Given the description of an element on the screen output the (x, y) to click on. 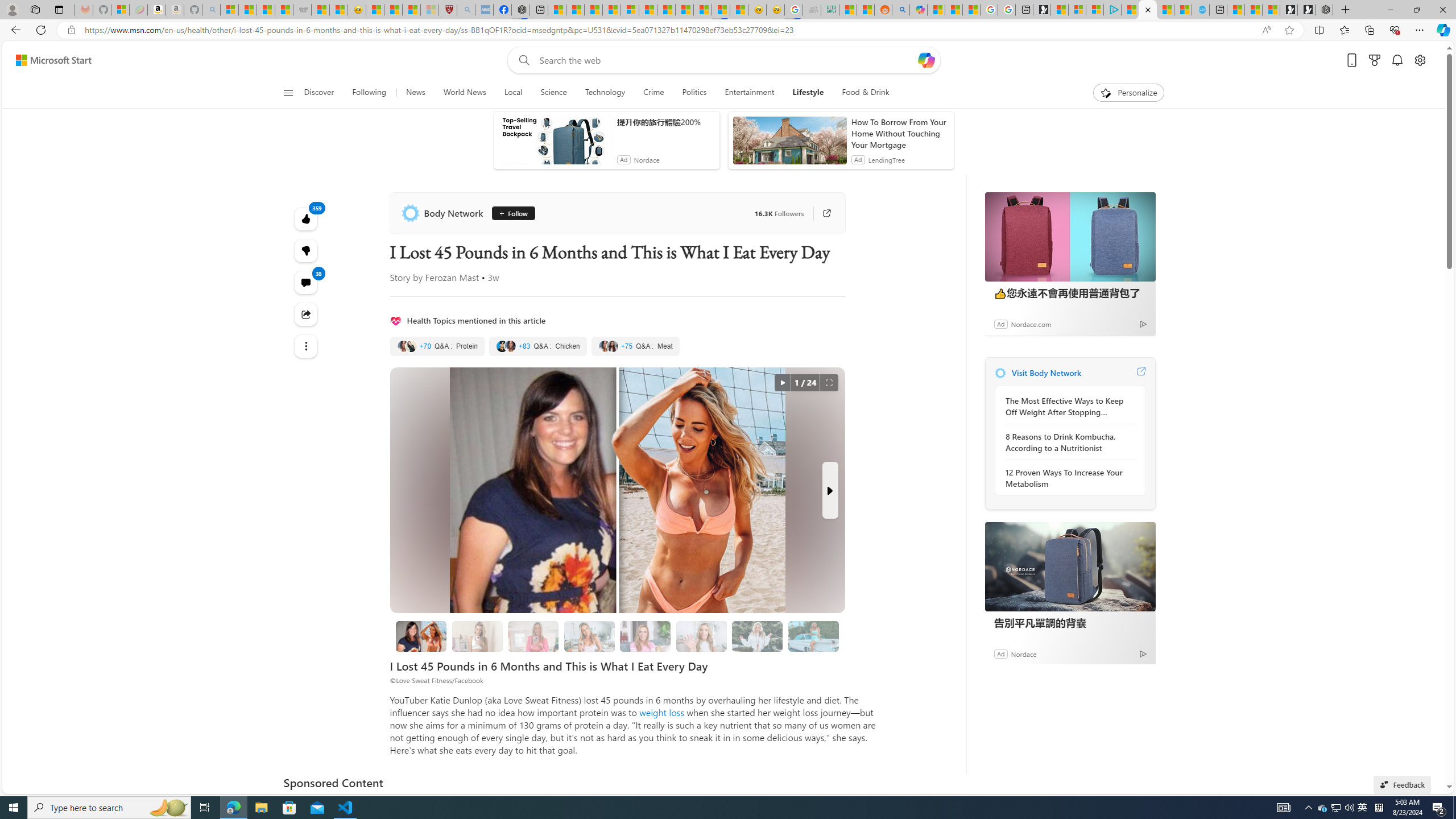
Share this story (305, 314)
8 I Stopped Comparing Myself to Others (812, 635)
Class: at-item (305, 345)
1 Katie Reduced Caffeine Intake (589, 636)
Body Network (1000, 372)
